Given the description of an element on the screen output the (x, y) to click on. 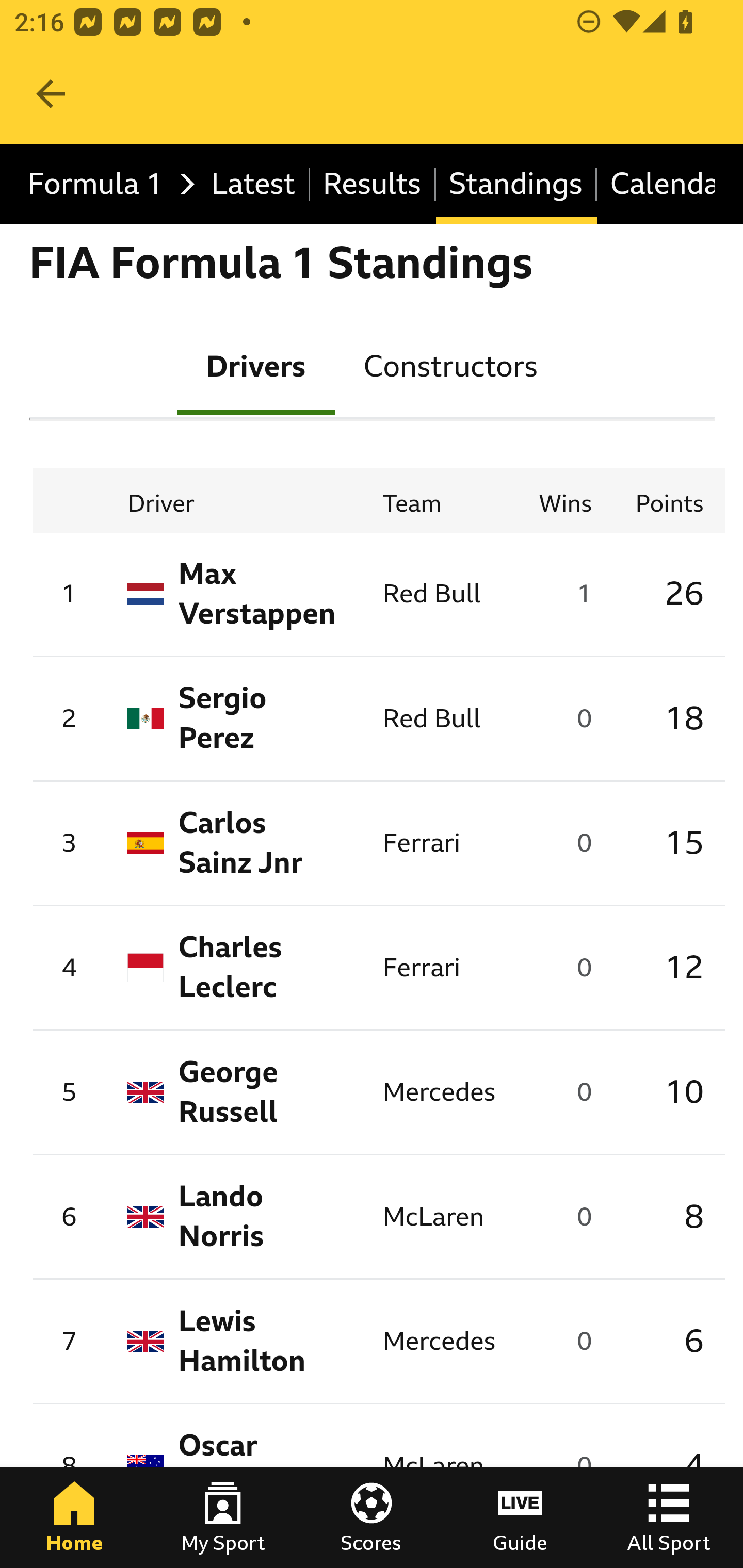
Navigate up (50, 93)
Formula 1 (106, 184)
Latest (253, 184)
Results (372, 184)
Standings (515, 184)
Calendar (655, 184)
Drivers (255, 365)
Constructors (449, 365)
My Sport (222, 1517)
Scores (371, 1517)
Guide (519, 1517)
All Sport (668, 1517)
